Given the description of an element on the screen output the (x, y) to click on. 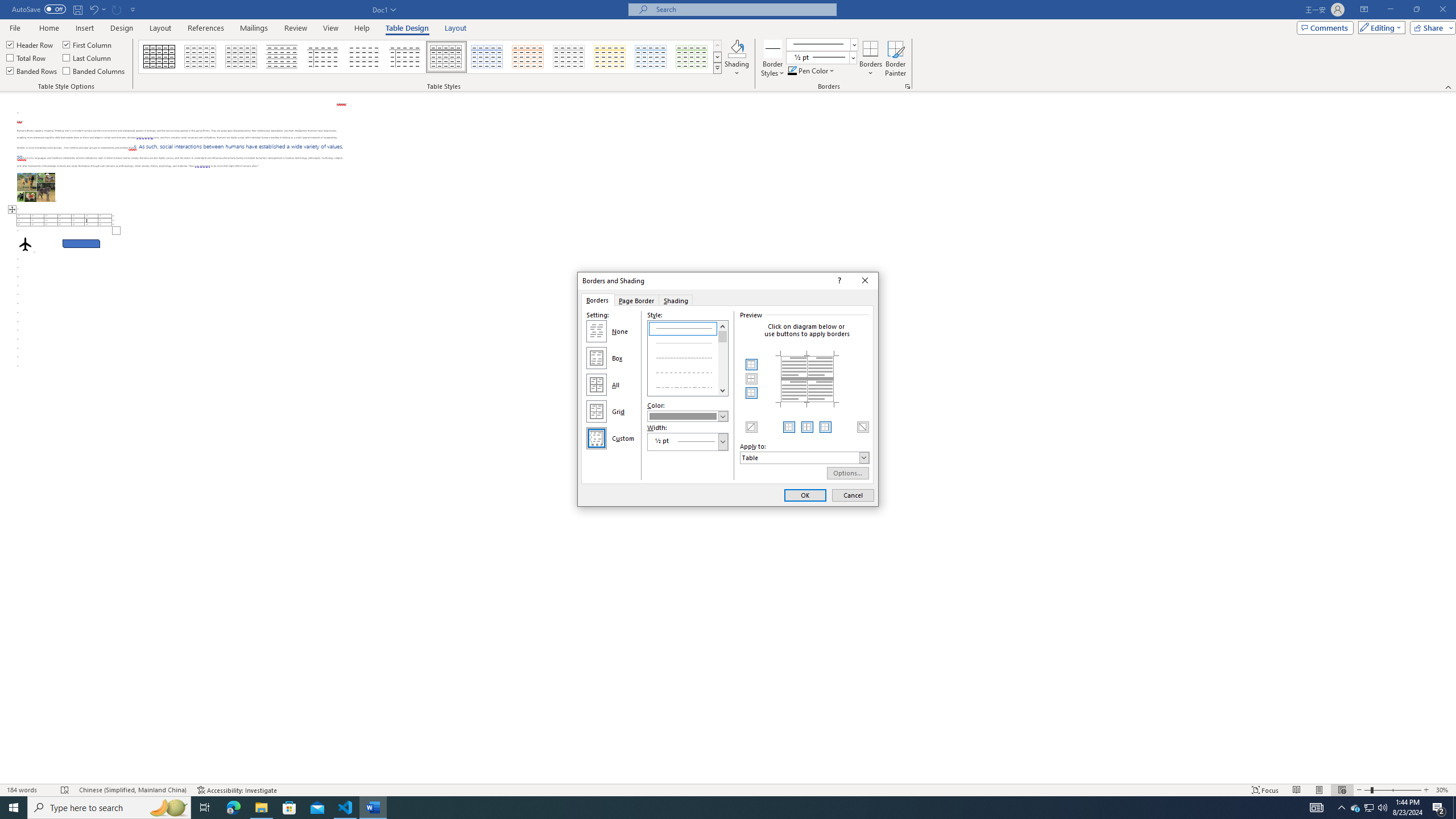
Comments (1325, 27)
Plain Table 4 (363, 56)
Running applications (717, 807)
Right Border (824, 426)
Open (852, 57)
Inside Horizontal Border (751, 378)
Left Border (788, 426)
Grid Table 1 Light - Accent 6 (691, 56)
Pen Color (811, 69)
Diagonal Up Border (751, 426)
Grid Table 1 Light - Accent 1 (487, 56)
Start (13, 807)
Show desktop (1454, 807)
Border Styles (773, 48)
